Given the description of an element on the screen output the (x, y) to click on. 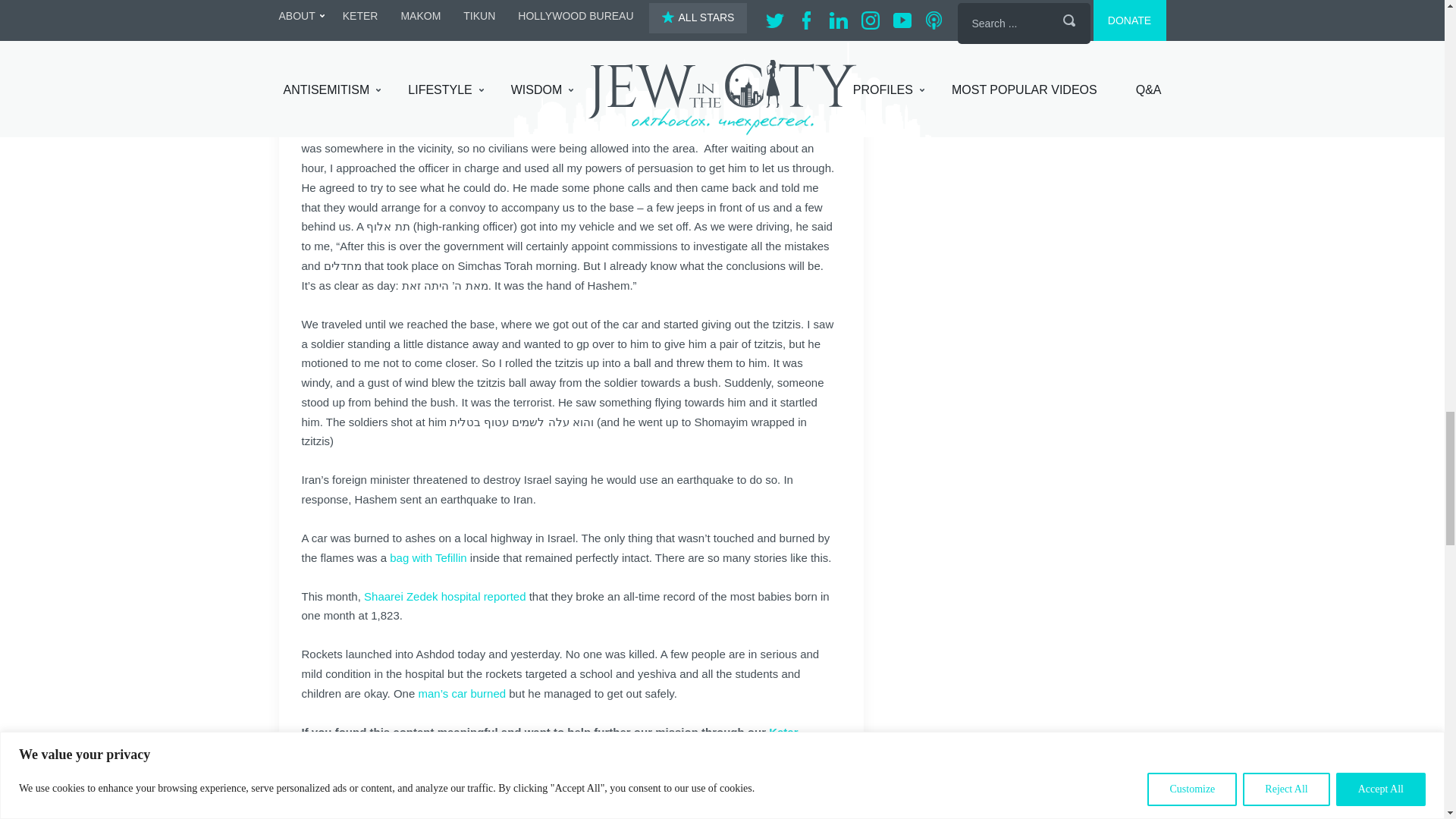
Linkedin (425, 795)
Whatsapp (483, 795)
Reddit (396, 795)
Facebook (339, 795)
Twitter (367, 795)
Instagram (454, 795)
